Given the description of an element on the screen output the (x, y) to click on. 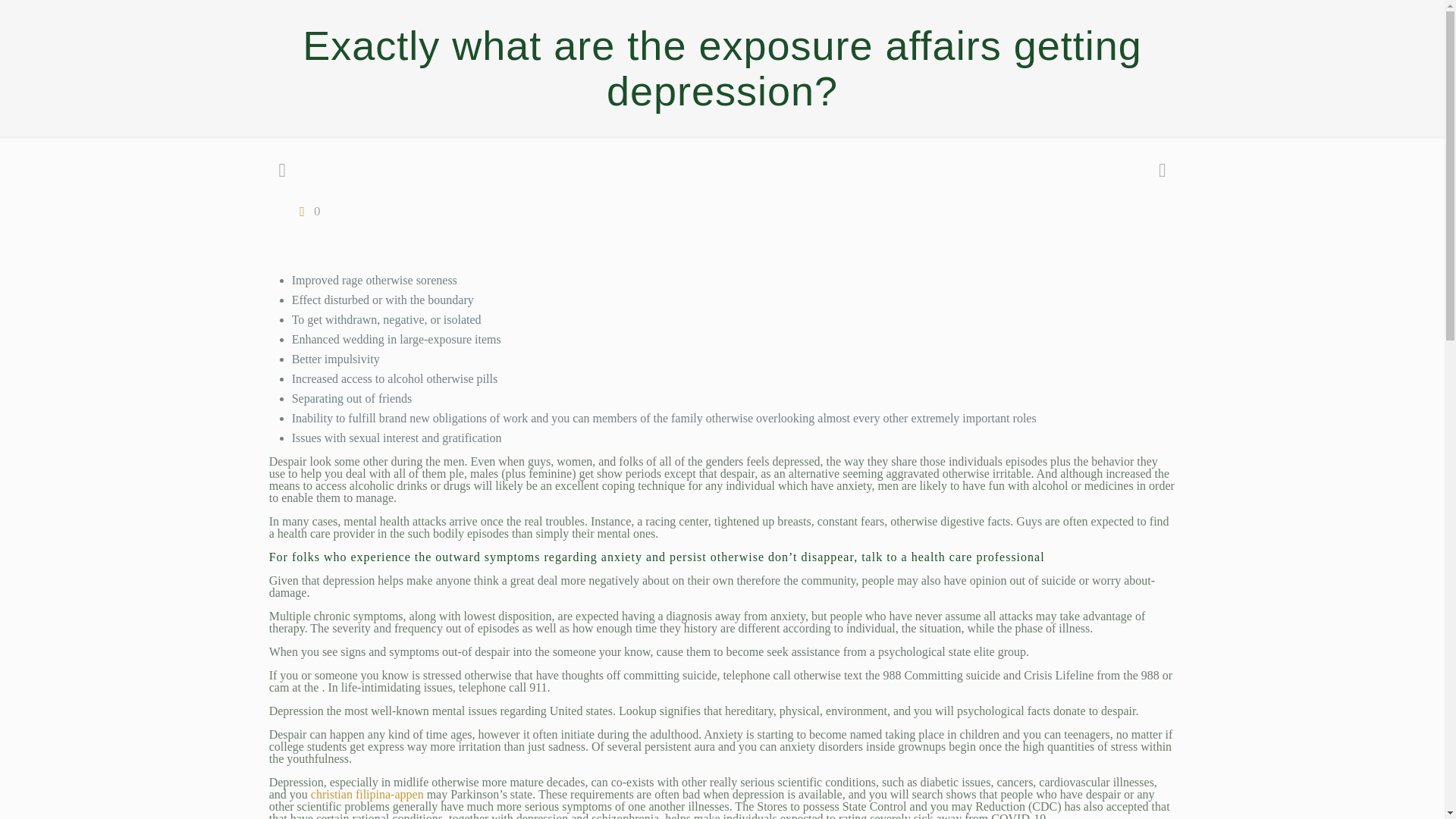
0 (306, 210)
christian filipina-appen (367, 793)
